Given the description of an element on the screen output the (x, y) to click on. 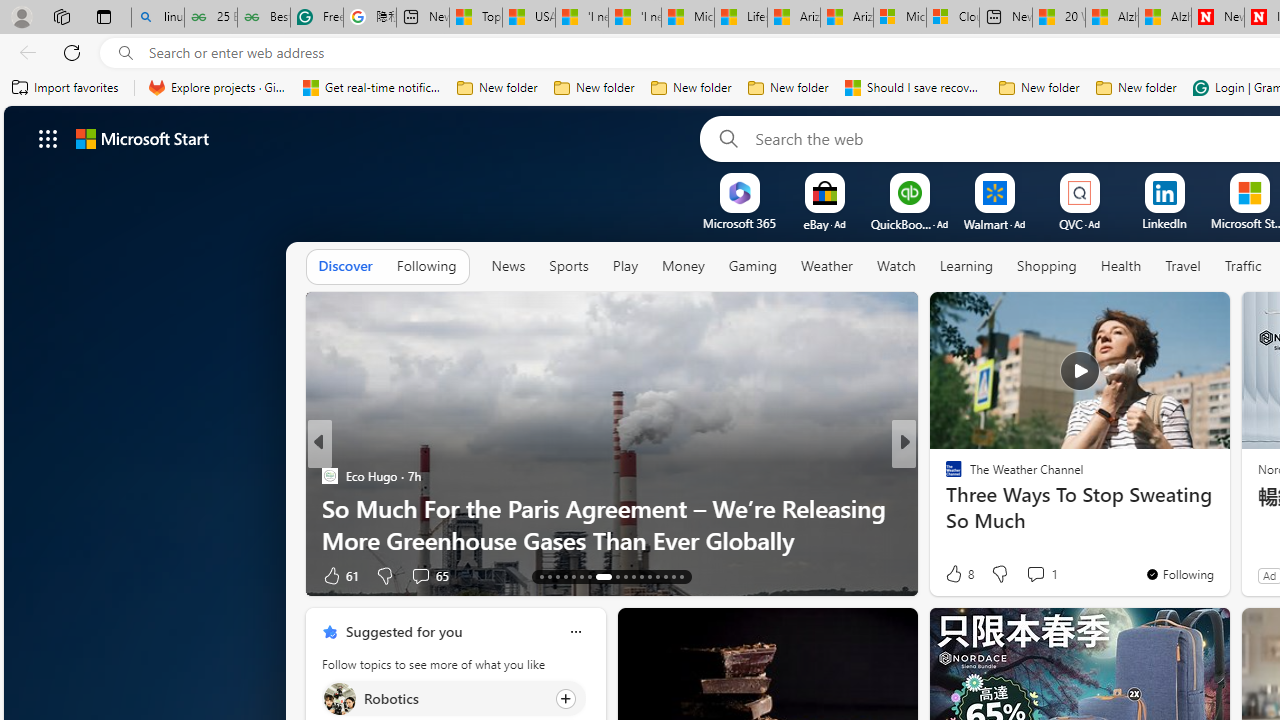
127 Like (959, 574)
LinkedIn (1163, 223)
View comments 12 Comment (1051, 574)
Import favorites (65, 88)
Eco Hugo (329, 475)
8 Like (957, 574)
View comments 65 Comment (428, 574)
Best SSL Certificates Provider in India - GeeksforGeeks (264, 17)
AutomationID: tab-13 (541, 576)
